Given the description of an element on the screen output the (x, y) to click on. 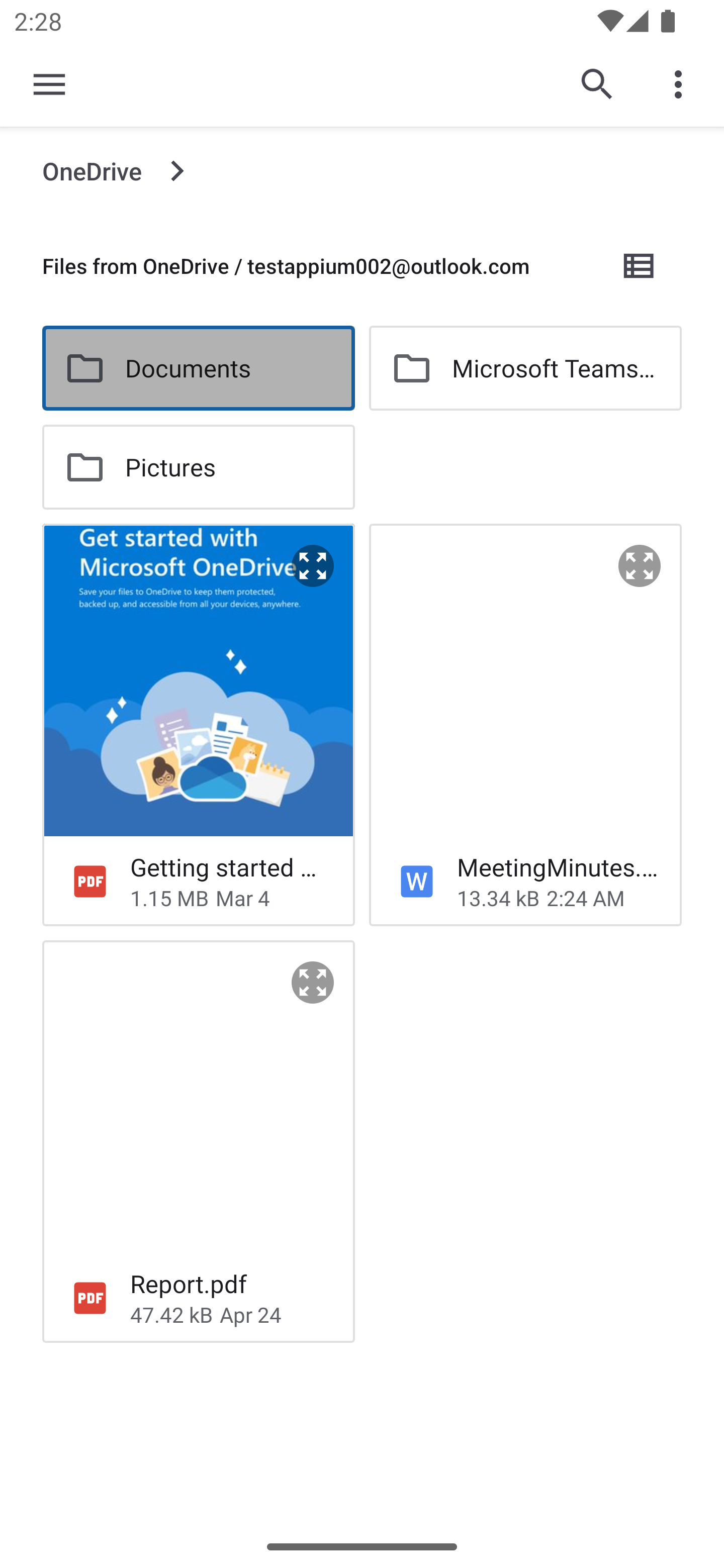
Show roots (49, 84)
Search (597, 84)
More options (681, 84)
List view (639, 265)
Documents (197, 368)
Microsoft Teams Chat Files (525, 368)
Pictures (197, 466)
Preview the file Getting started with OneDrive.pdf (312, 565)
Preview the file MeetingMinutes.docx (639, 565)
Preview the file Report.pdf (312, 982)
